Given the description of an element on the screen output the (x, y) to click on. 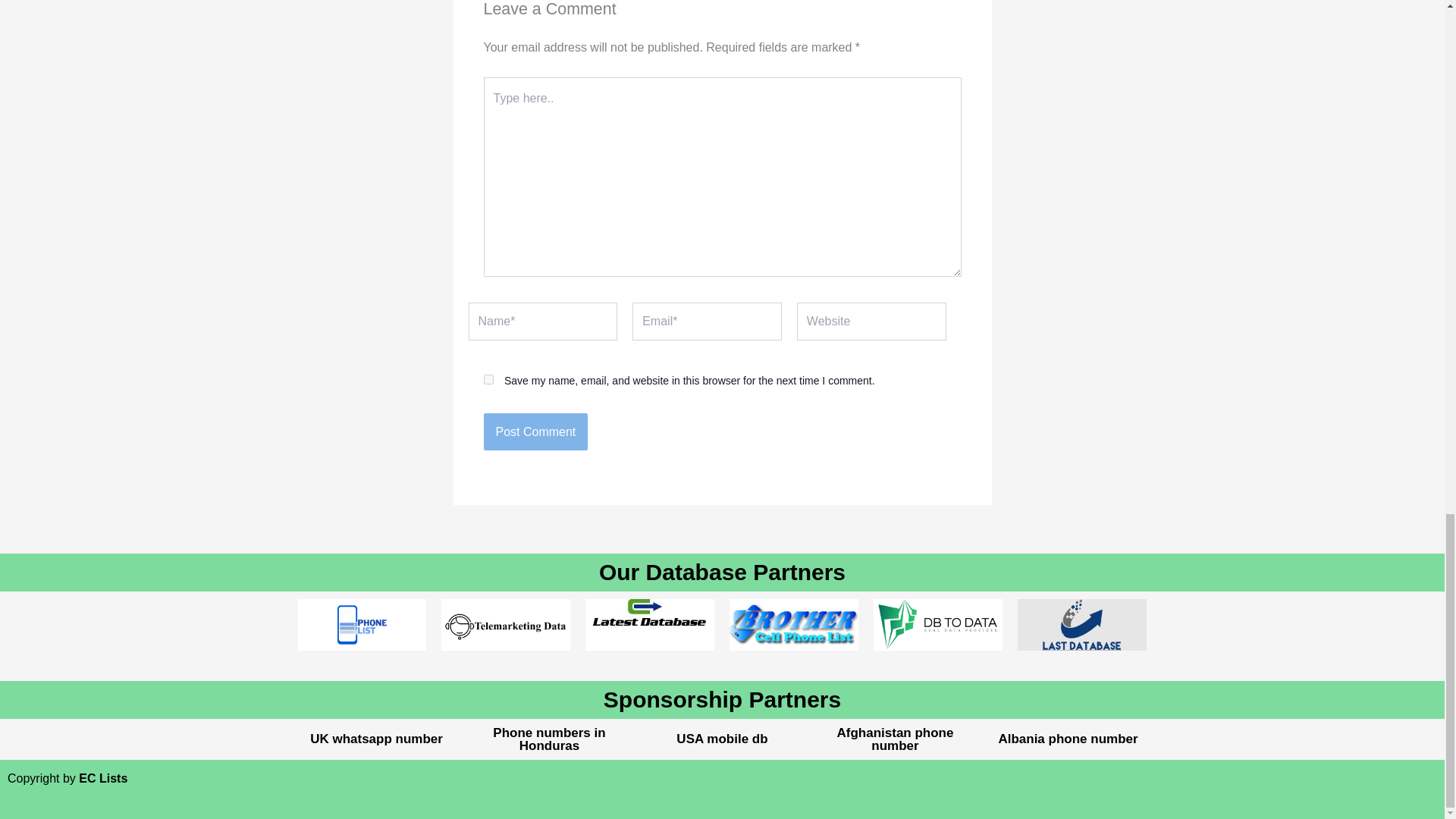
EC Lists (103, 778)
Albania phone number (1067, 739)
USA mobile db (722, 739)
UK whatsapp number (376, 739)
Phone numbers in Honduras (549, 738)
Post Comment (535, 431)
Afghanistan phone number (895, 738)
yes (488, 379)
Post Comment (535, 431)
